Given the description of an element on the screen output the (x, y) to click on. 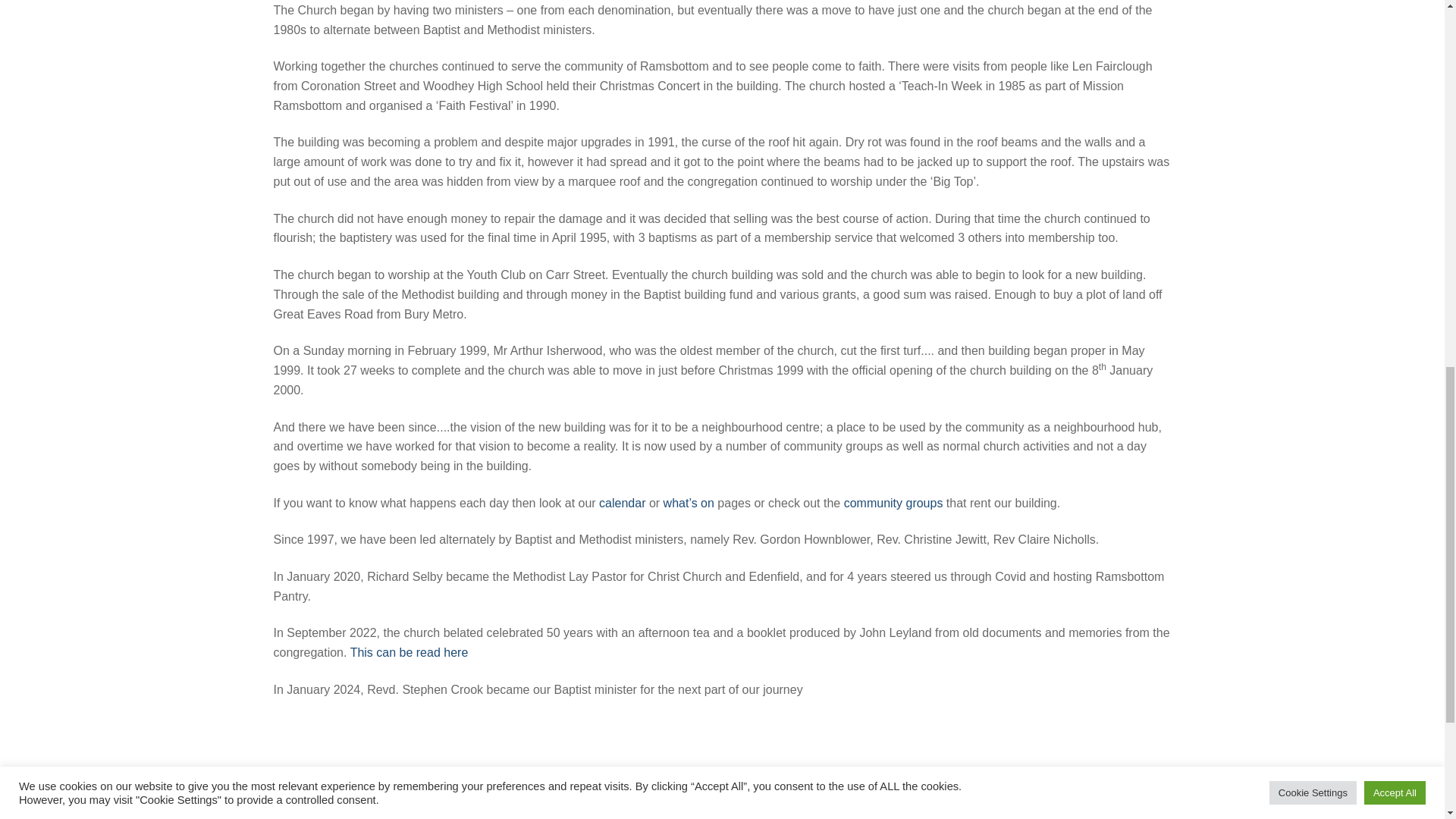
This can be read here (409, 652)
Contact Us (763, 818)
calendar (621, 502)
community groups (891, 502)
